Given the description of an element on the screen output the (x, y) to click on. 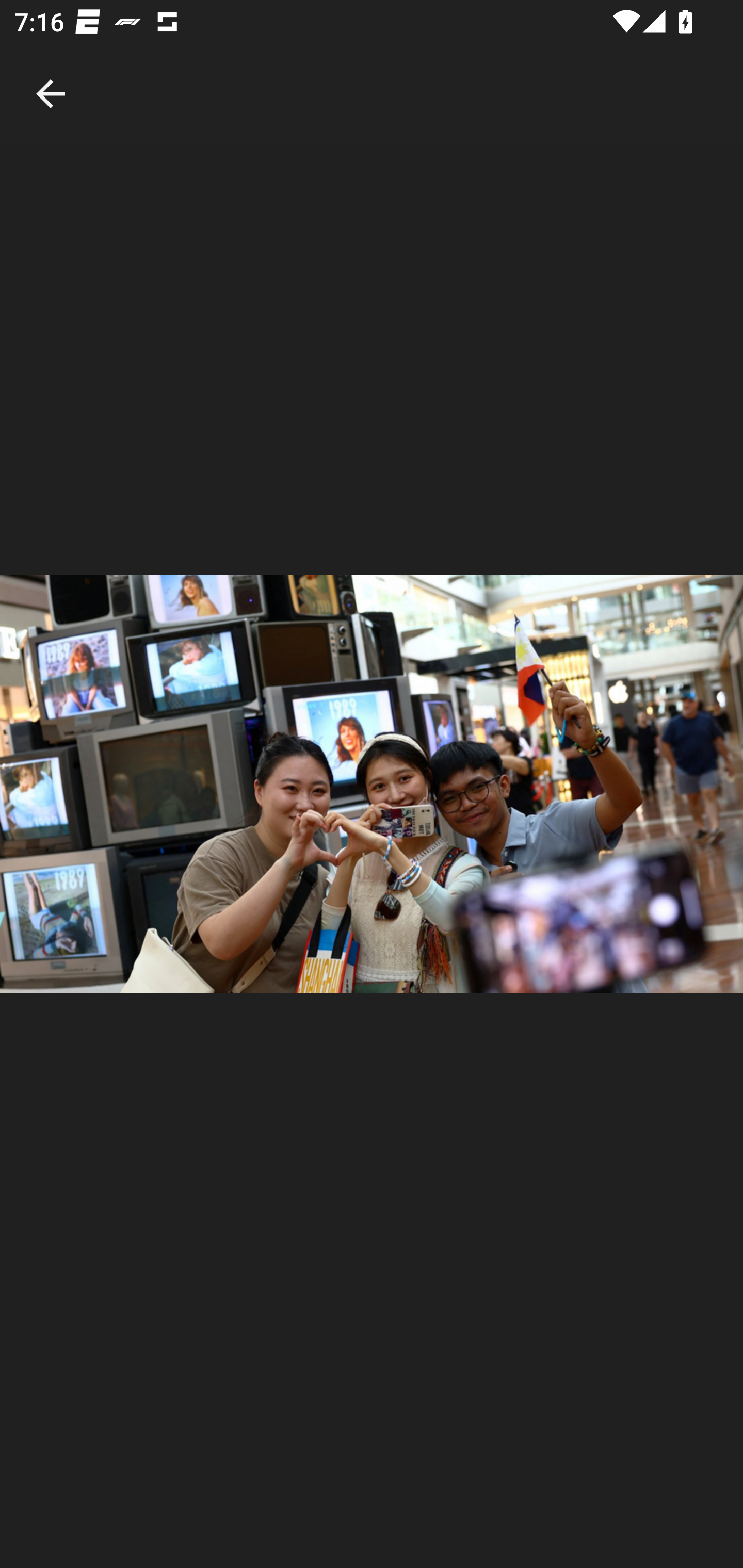
Back (50, 72)
